Given the description of an element on the screen output the (x, y) to click on. 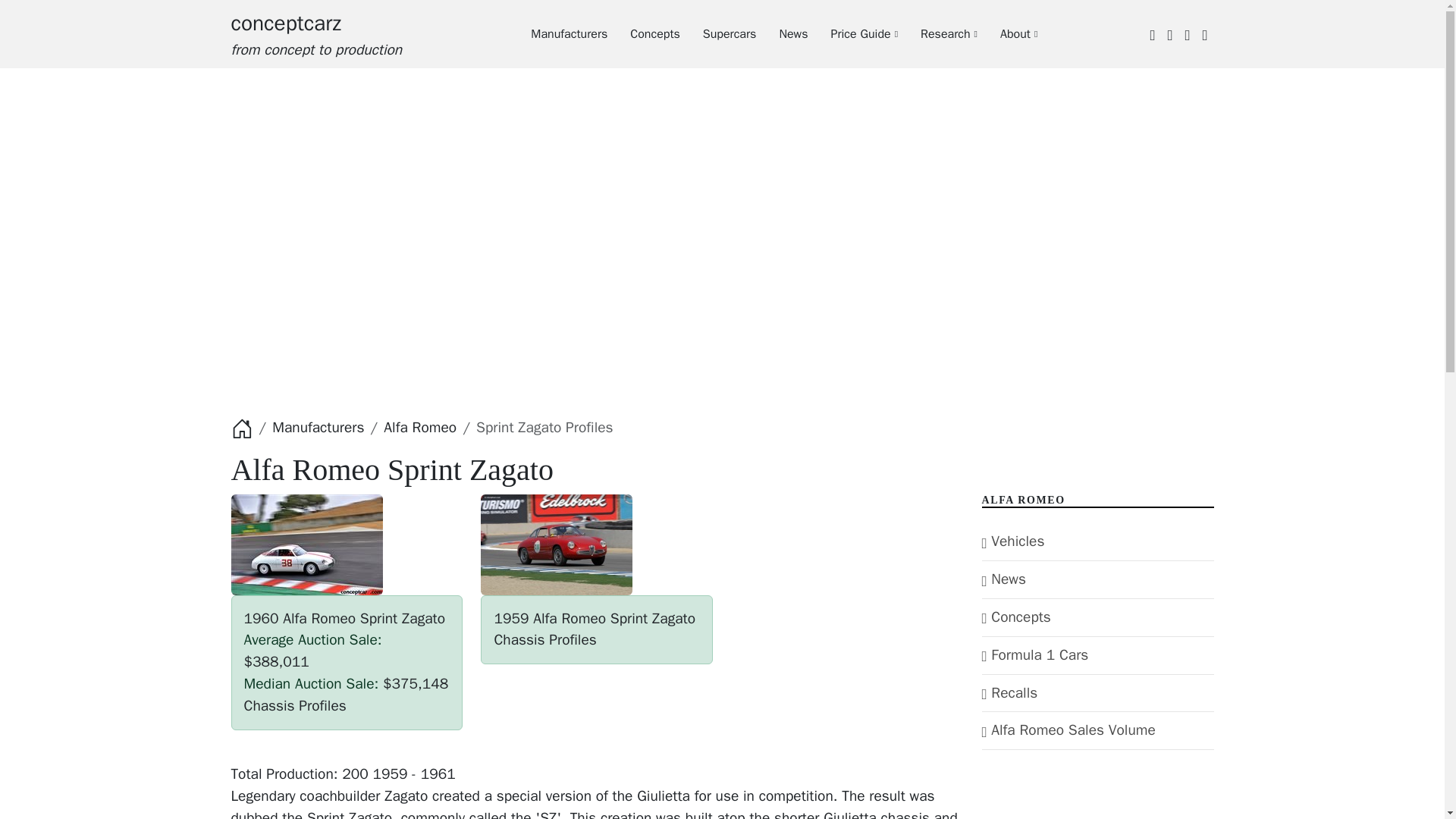
Research Vehicles (937, 33)
Price Guide (853, 33)
conceptcarz.com (315, 34)
News (781, 33)
Research (937, 33)
About (1006, 33)
Auto news (781, 33)
Supercars (718, 33)
Concept Cars And Prototype Vehicles (315, 34)
